Given the description of an element on the screen output the (x, y) to click on. 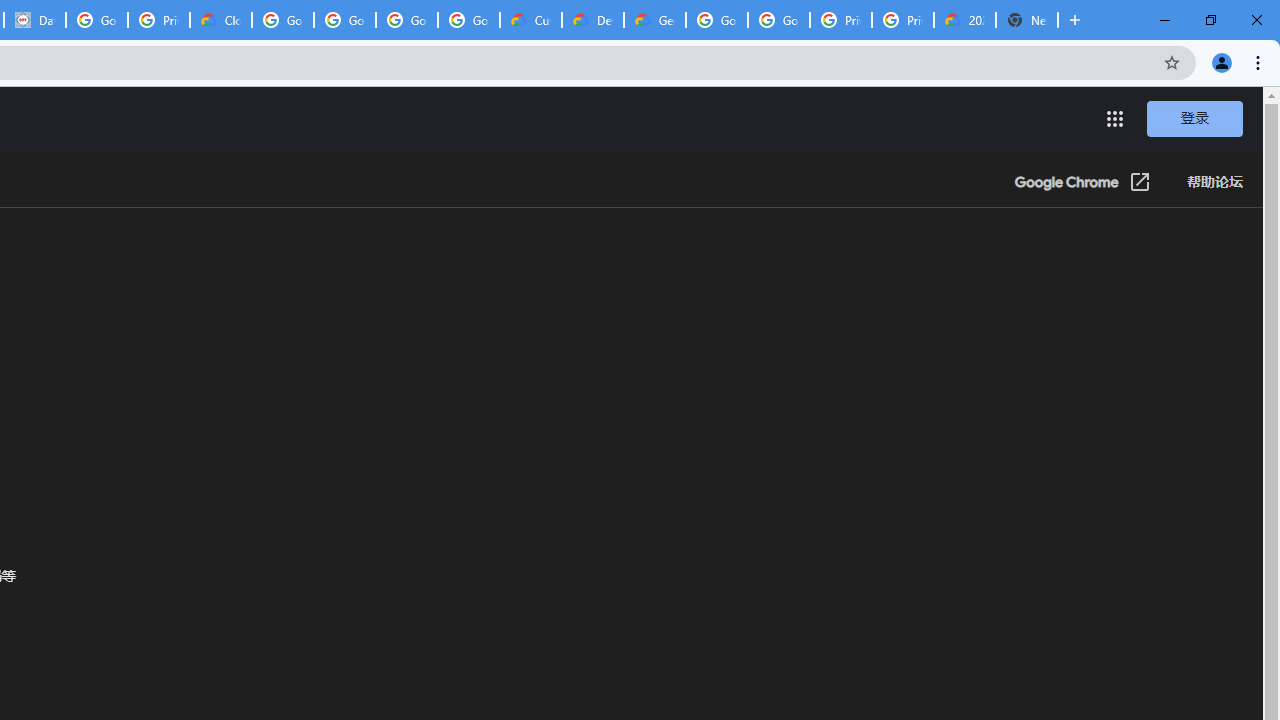
Cloud Data Processing Addendum | Google Cloud (220, 20)
Customer Care | Google Cloud (530, 20)
New Tab (1026, 20)
